Given the description of an element on the screen output the (x, y) to click on. 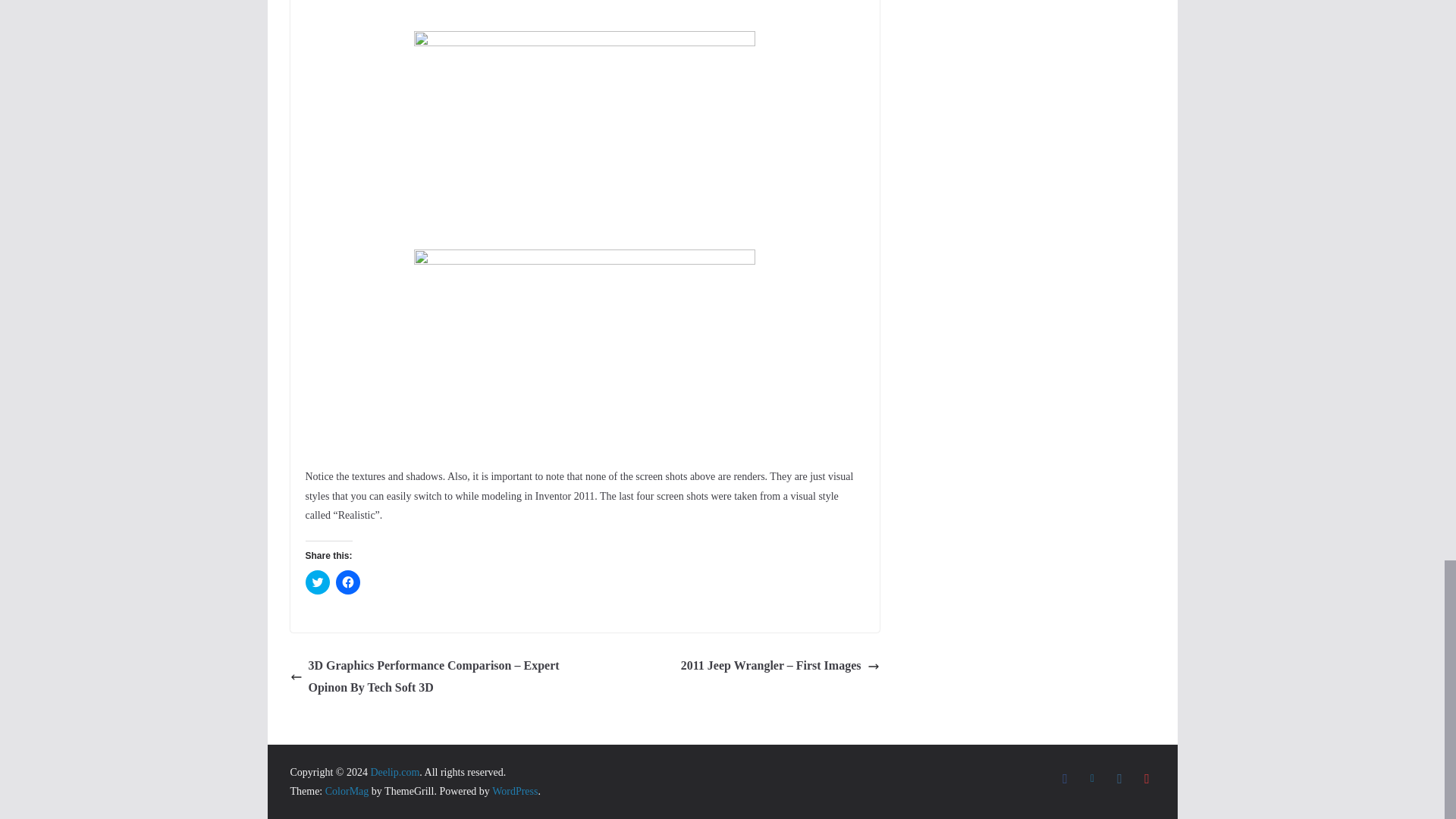
WordPress (514, 790)
Deelip.com (394, 772)
ColorMag (346, 790)
Click to share on Facebook (346, 582)
Click to share on Twitter (316, 582)
